Given the description of an element on the screen output the (x, y) to click on. 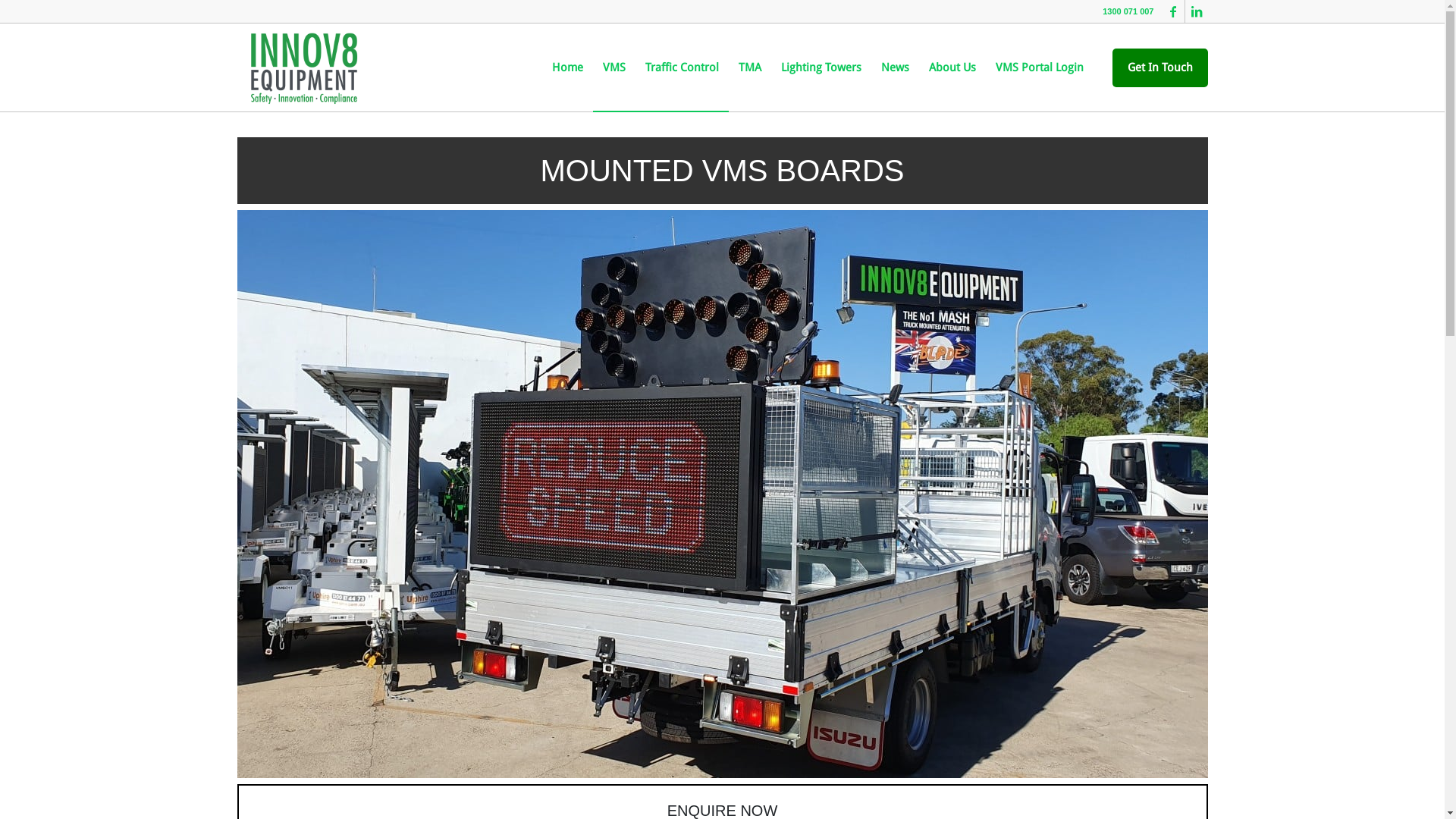
News Element type: text (894, 67)
Mounted VMS Boards Element type: hover (721, 494)
Lighting Towers Element type: text (820, 67)
VMS Element type: text (614, 67)
Traffic Control Element type: text (681, 67)
Innov8Equipment Element type: hover (303, 67)
Home Element type: text (566, 67)
Get In Touch Element type: text (1159, 67)
LinkedIn Element type: hover (1195, 11)
About Us Element type: text (952, 67)
Facebook Element type: hover (1172, 11)
1300 071 007 Element type: text (1127, 10)
VMS Portal Login Element type: text (1039, 67)
TMA Element type: text (749, 67)
